Given the description of an element on the screen output the (x, y) to click on. 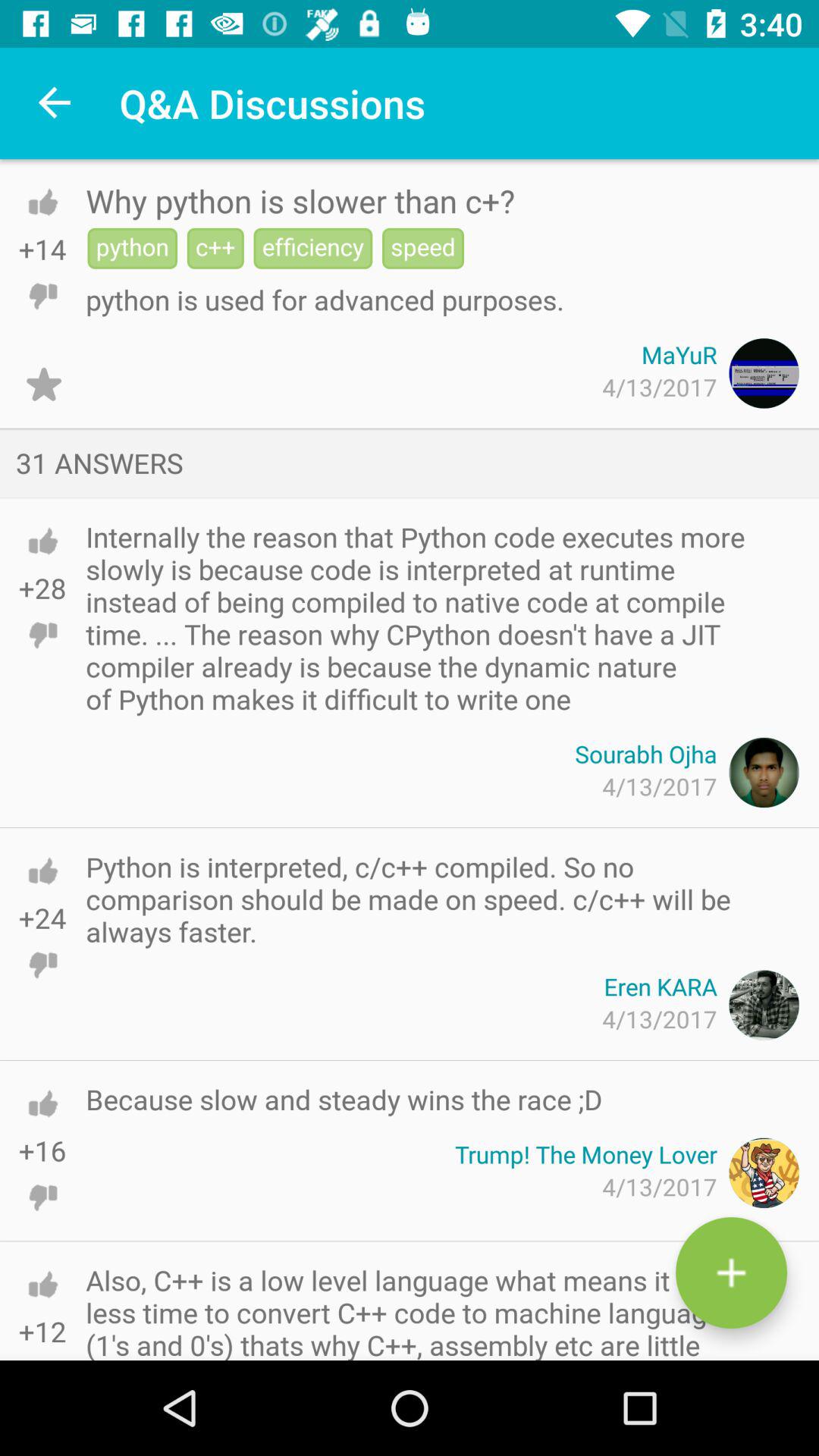
he can activate the simple voice command (731, 1272)
